Given the description of an element on the screen output the (x, y) to click on. 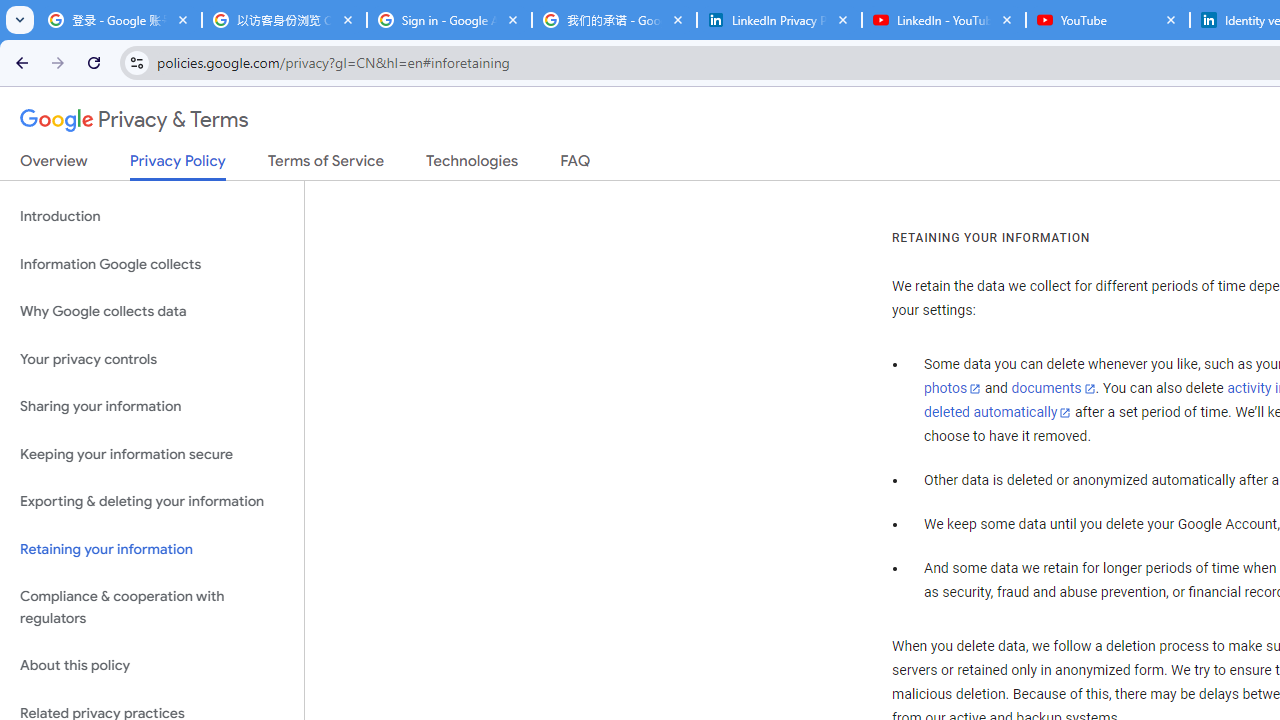
About this policy (152, 666)
Introduction (152, 216)
LinkedIn Privacy Policy (779, 20)
Why Google collects data (152, 312)
Your privacy controls (152, 358)
photos (952, 389)
documents (1053, 389)
